Given the description of an element on the screen output the (x, y) to click on. 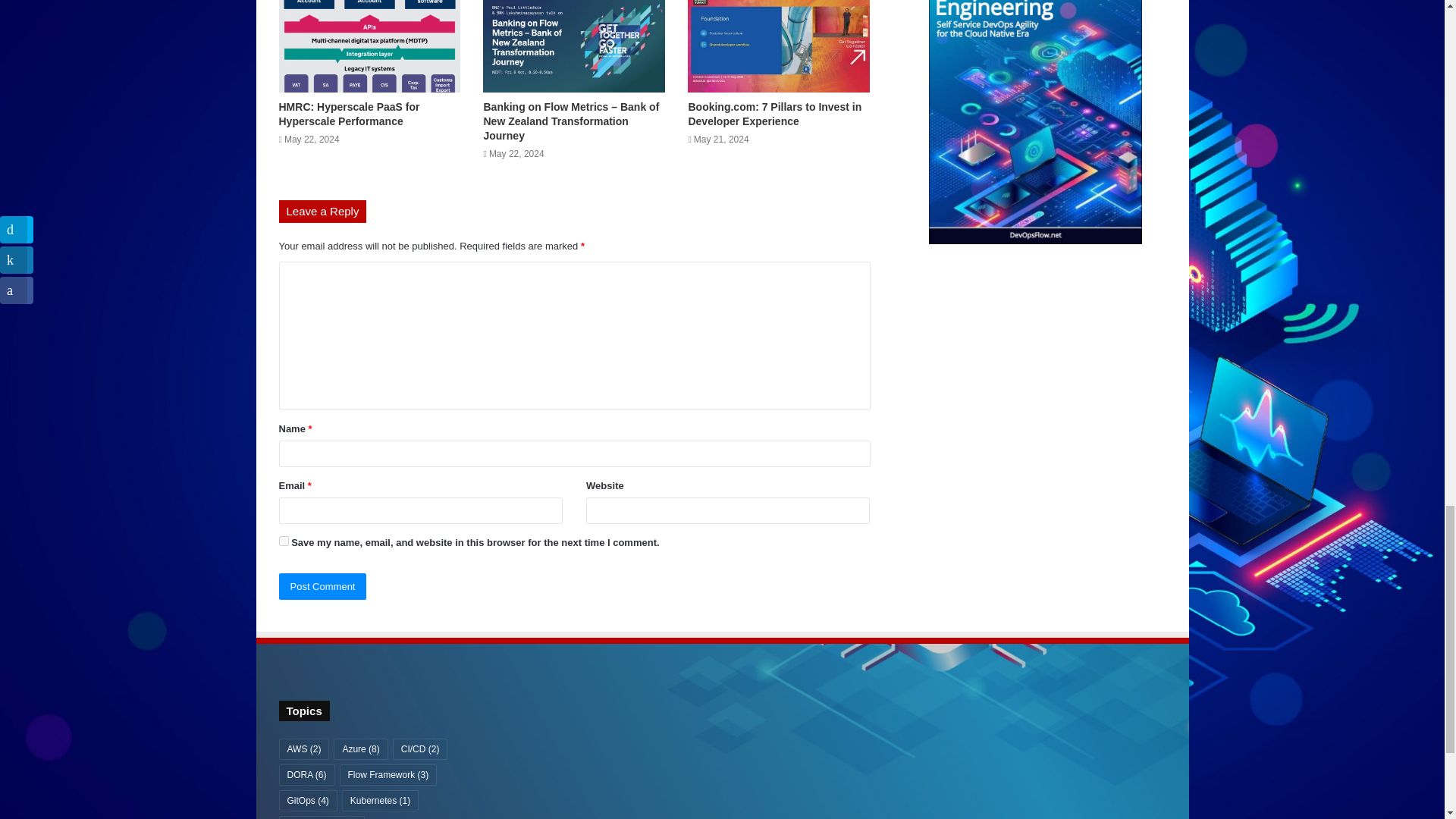
Post Comment (322, 586)
HMRC: Hyperscale PaaS for Hyperscale Performance (349, 113)
yes (283, 541)
